Given the description of an element on the screen output the (x, y) to click on. 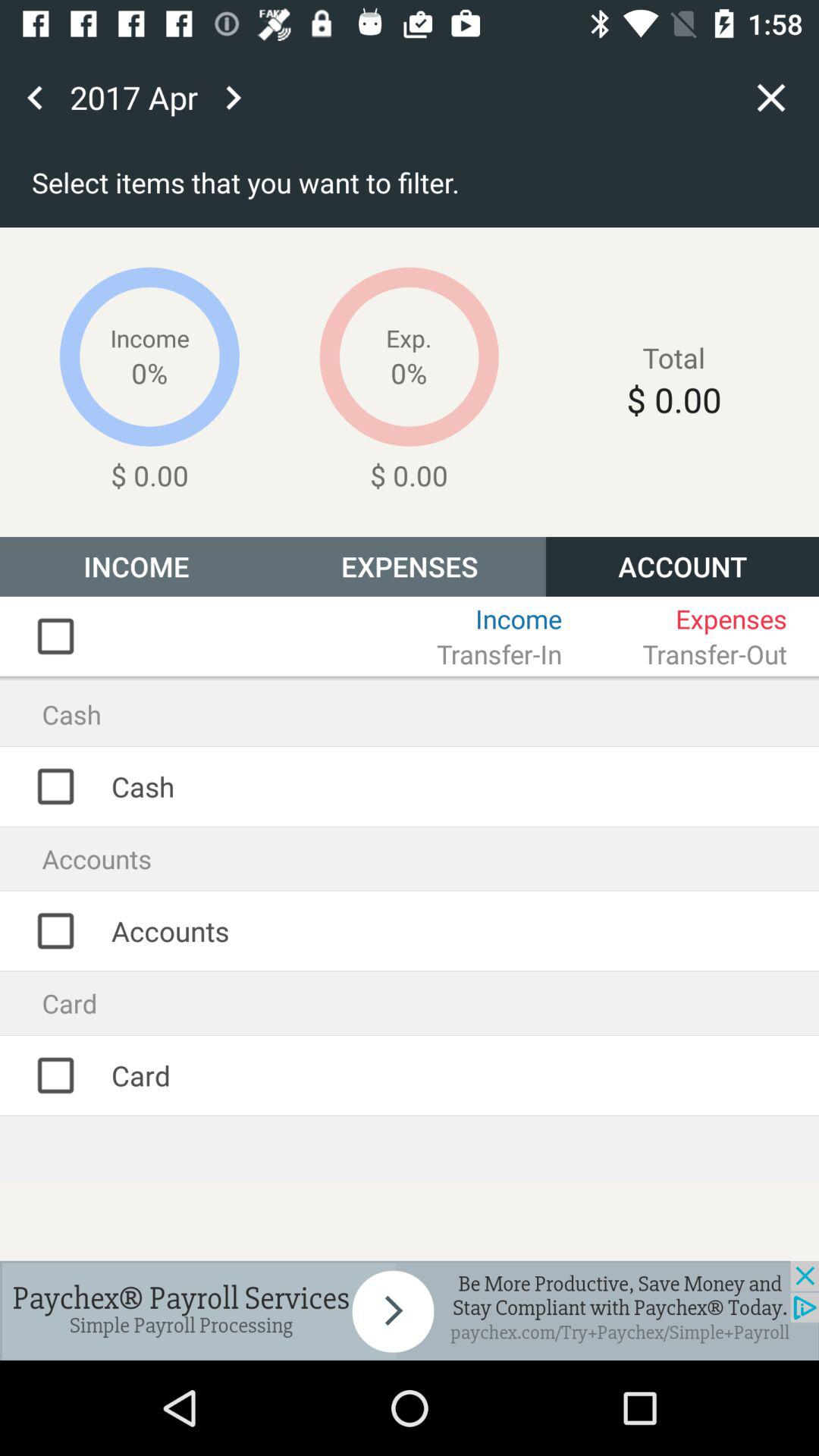
select the text which is below 2017 apr (511, 187)
